Given the description of an element on the screen output the (x, y) to click on. 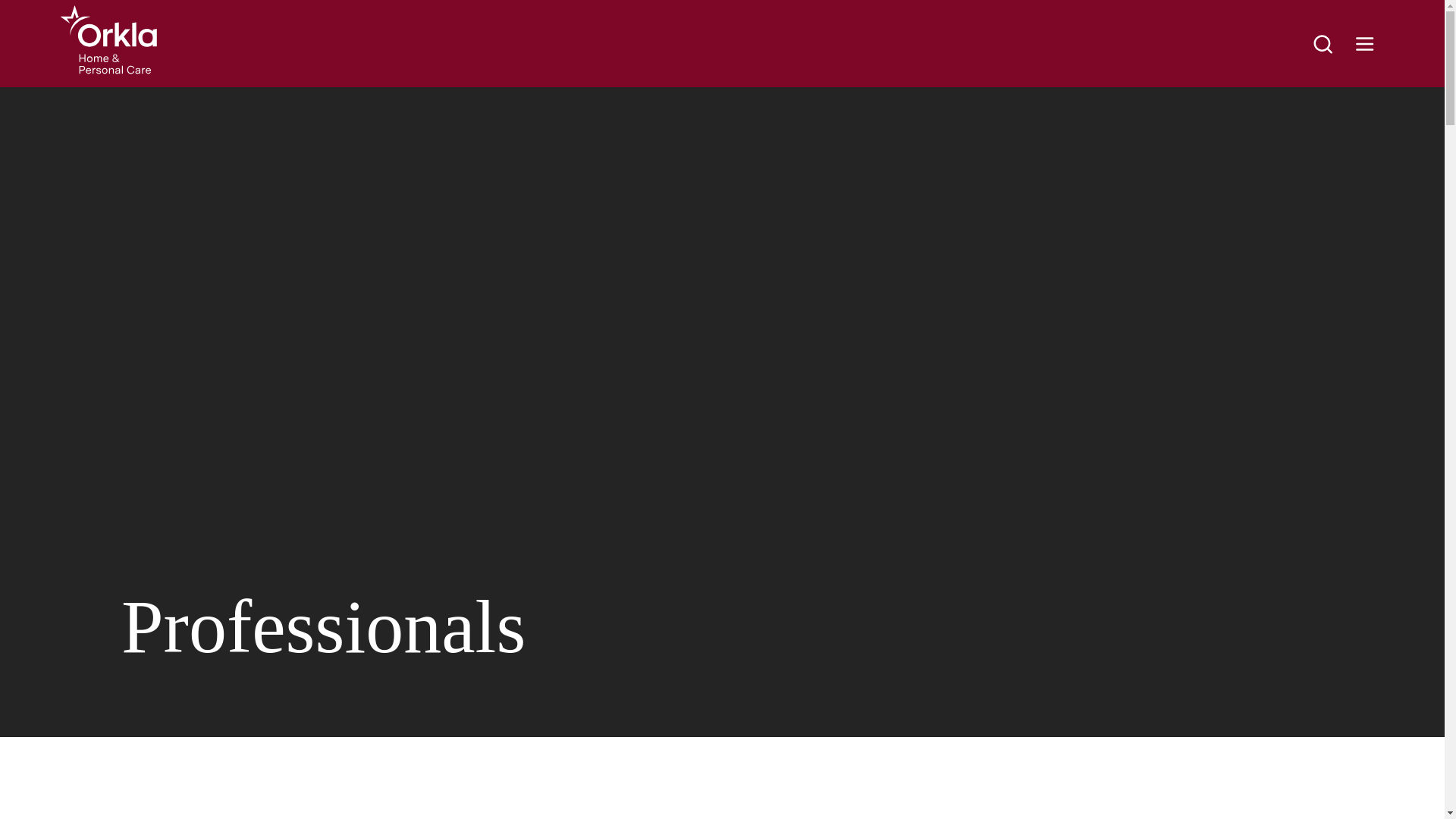
Go to frontpage (109, 39)
Search (1323, 43)
Open main menu (1364, 43)
